Given the description of an element on the screen output the (x, y) to click on. 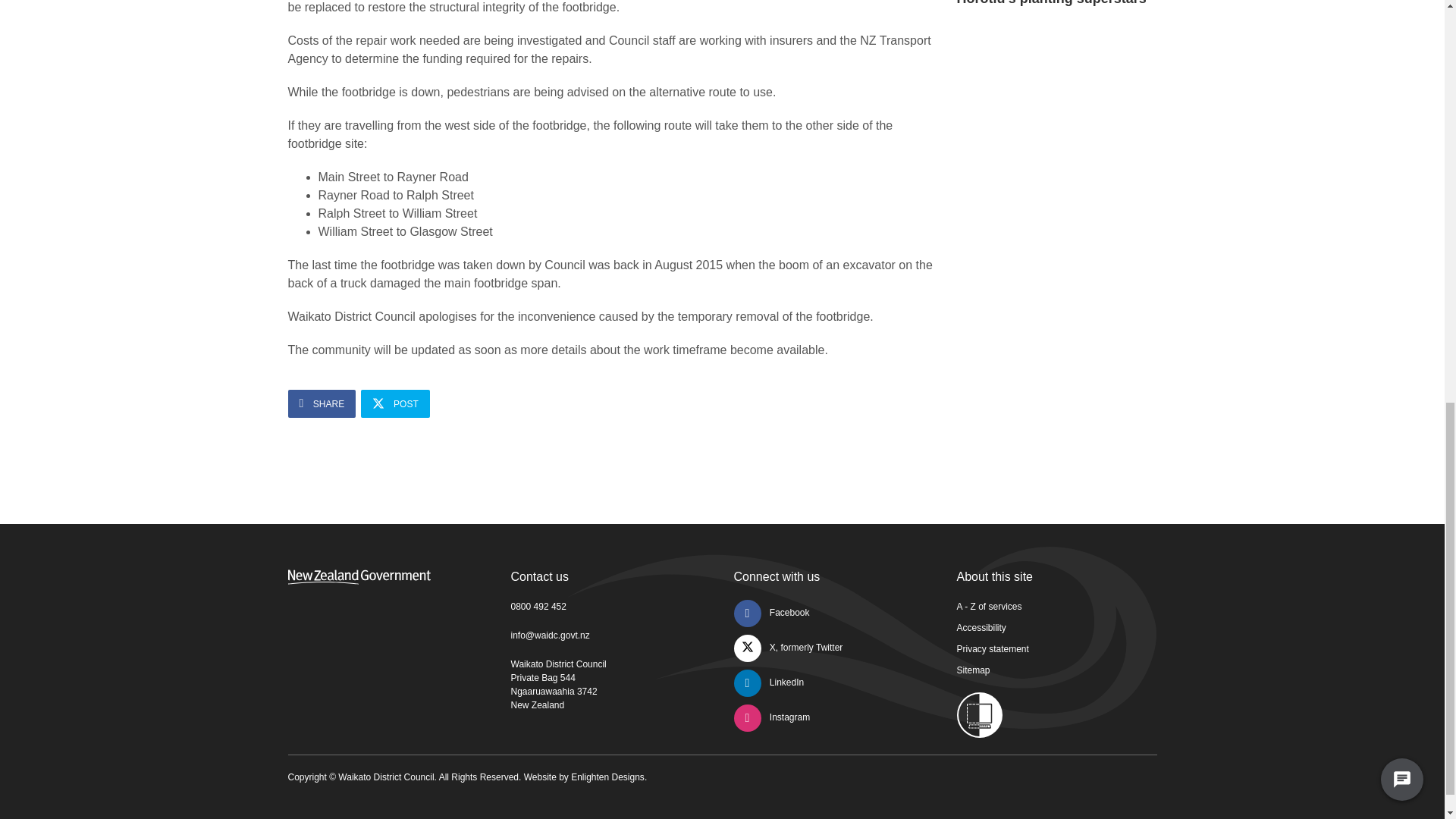
About this site (994, 576)
0800 492 452 (538, 606)
Accessibility (981, 627)
Contact us (540, 576)
Sitemap (973, 670)
A - Z of services (989, 606)
POST (395, 403)
X, formerly Twitter (788, 647)
Facebook (771, 612)
Instagram (771, 716)
Privacy statement (992, 648)
New Zealand Government (359, 576)
SHARE (322, 403)
LinkedIn (769, 682)
